Given the description of an element on the screen output the (x, y) to click on. 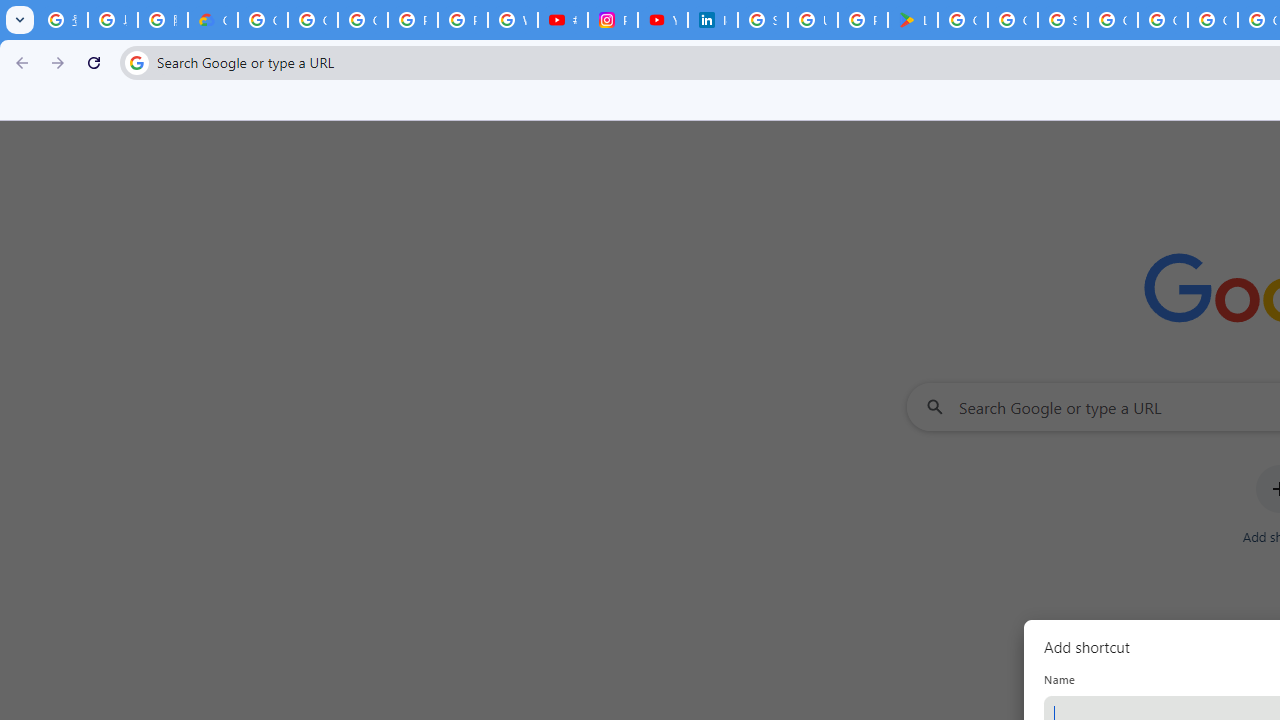
Google Cloud Platform (1162, 20)
Sign in - Google Accounts (763, 20)
Privacy Help Center - Policies Help (412, 20)
Privacy Help Center - Policies Help (462, 20)
Google Workspace - Specific Terms (1013, 20)
Sign in - Google Accounts (1062, 20)
